Given the description of an element on the screen output the (x, y) to click on. 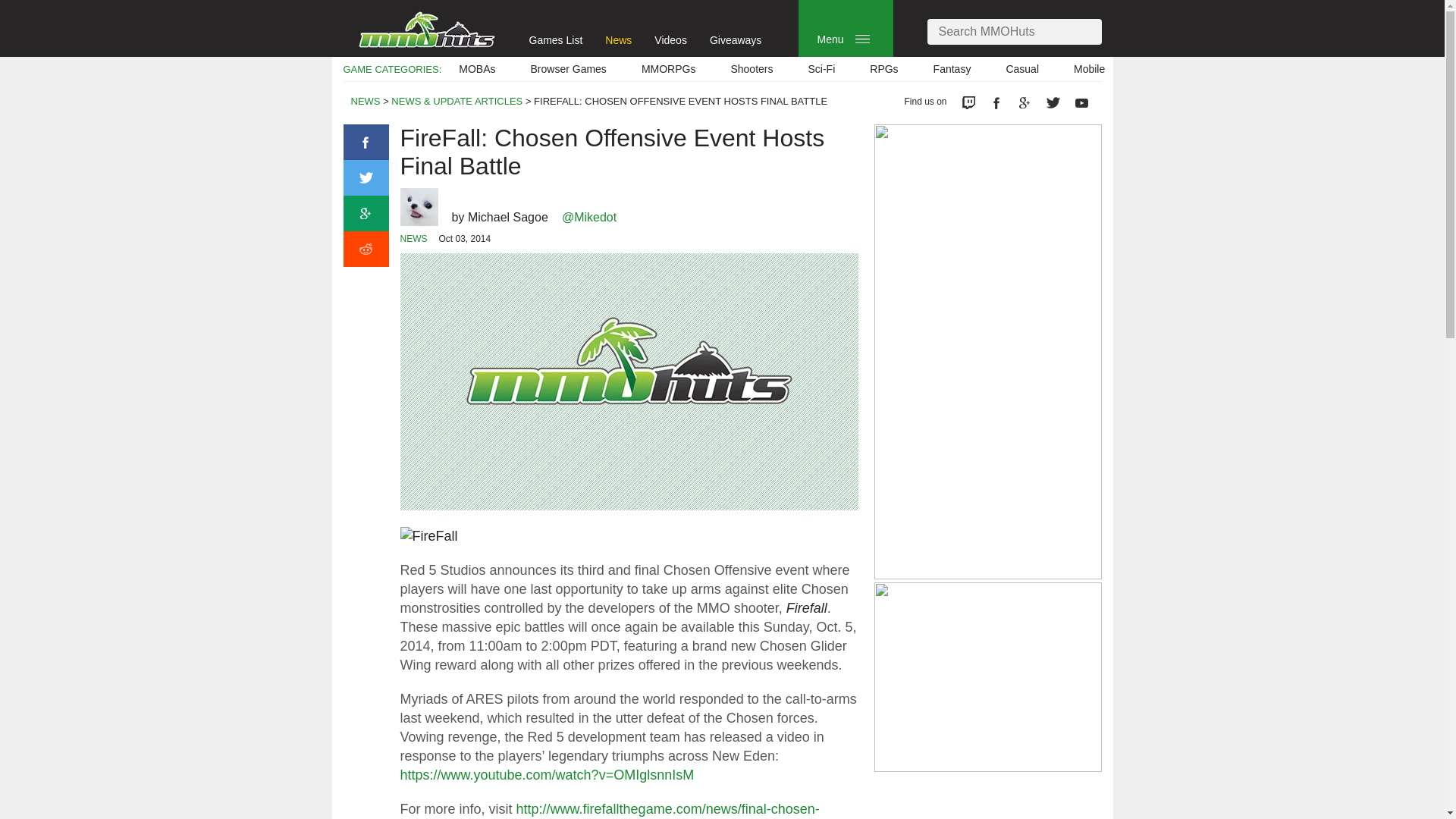
Visit the Browser Games List (569, 69)
Shooters (751, 69)
Main Menu (862, 39)
Michael Sagoe (507, 216)
Search MMOHuts - 4 chars search query required. (1013, 31)
Giveaways (735, 39)
MOBAs (476, 69)
Browser Games (569, 69)
Casual (1022, 69)
Games List (556, 39)
